Given the description of an element on the screen output the (x, y) to click on. 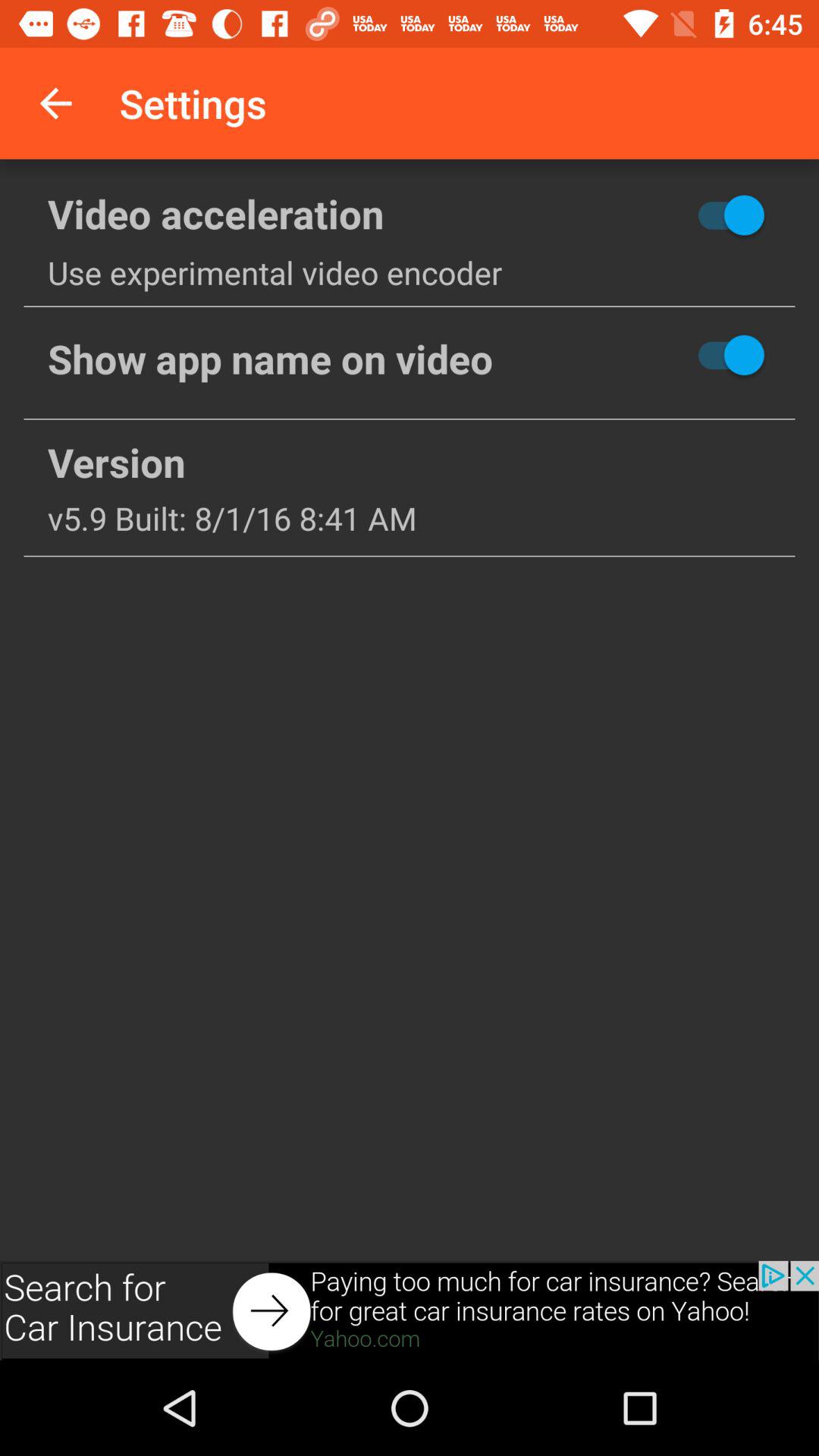
toggle on (675, 214)
